Given the description of an element on the screen output the (x, y) to click on. 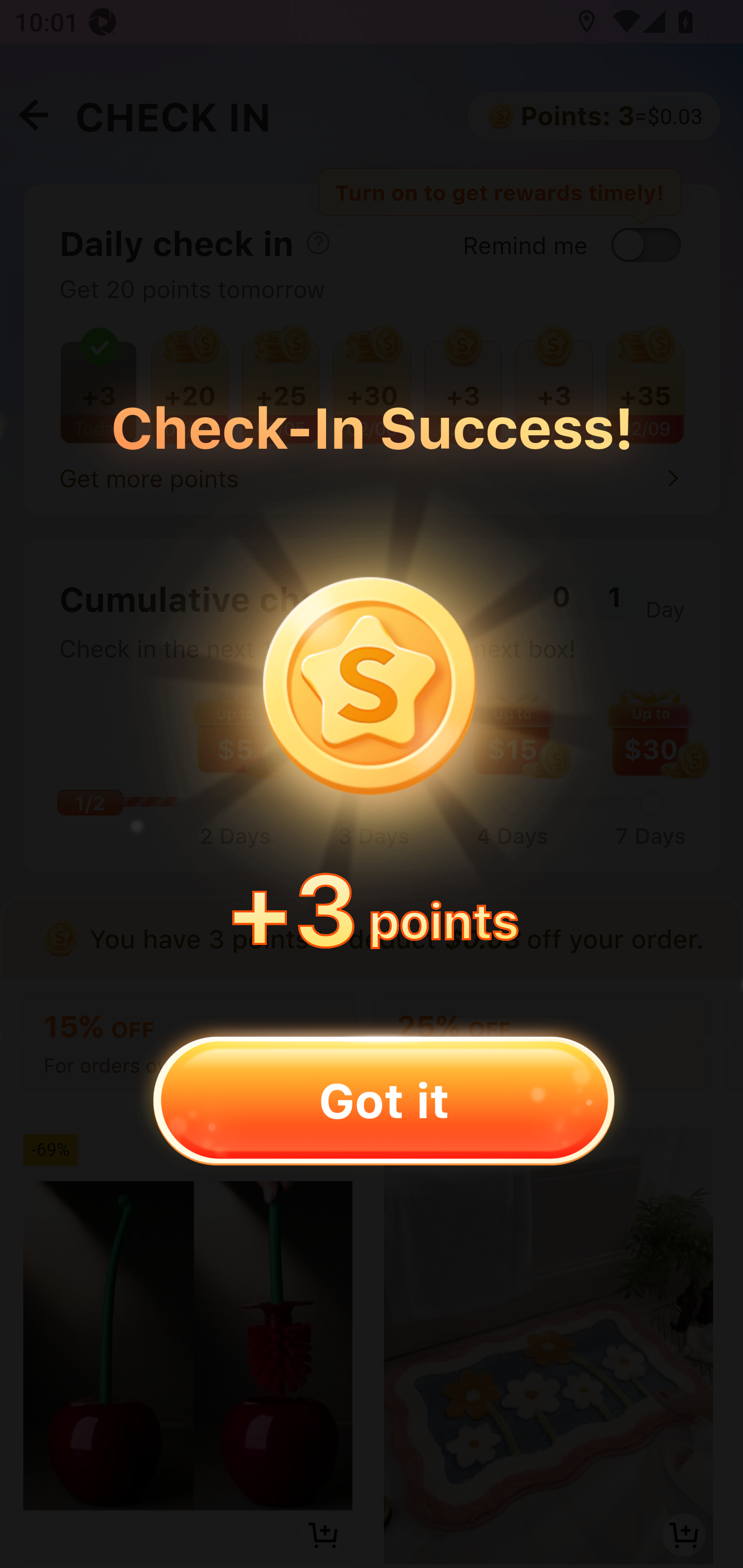
Got it (383, 1099)
